Given the description of an element on the screen output the (x, y) to click on. 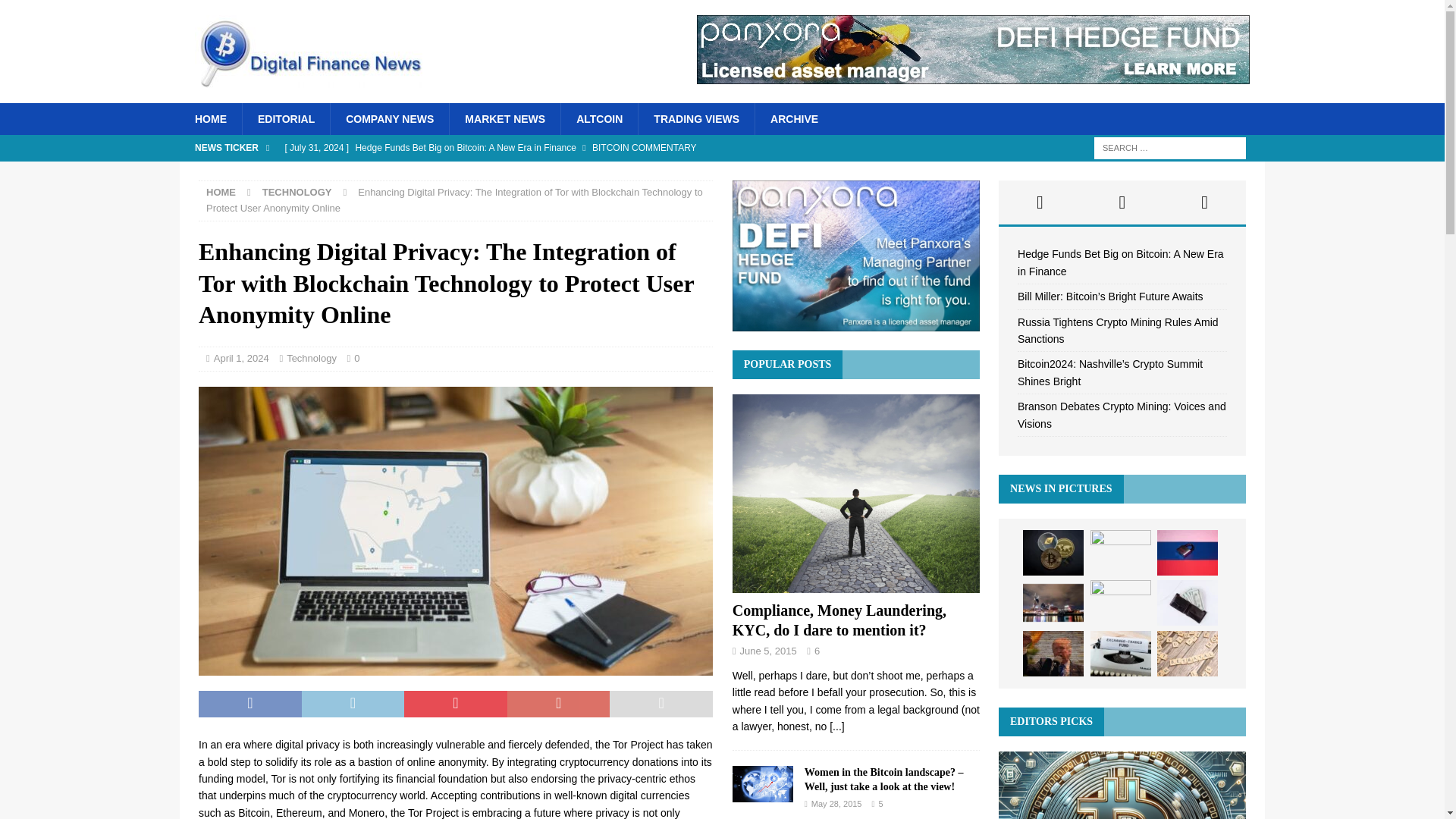
ARCHIVE (793, 119)
EDITORIAL (285, 119)
HOME (210, 119)
April 1, 2024 (241, 357)
TRADING VIEWS (695, 119)
ALTCOIN (598, 119)
Search (56, 11)
TECHNOLOGY (296, 192)
June 5, 2015 (767, 650)
